Given the description of an element on the screen output the (x, y) to click on. 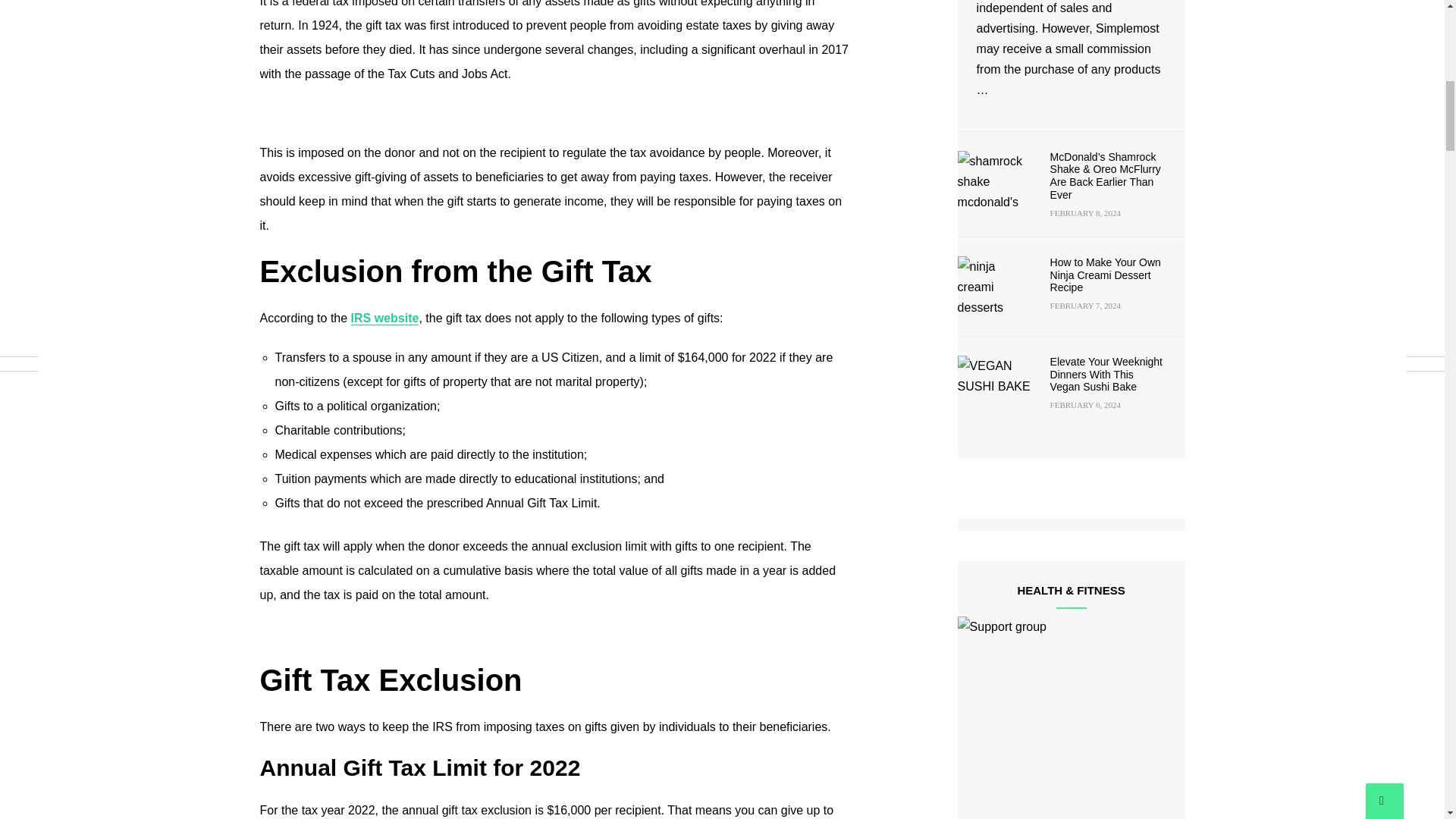
IRS website (384, 318)
